Given the description of an element on the screen output the (x, y) to click on. 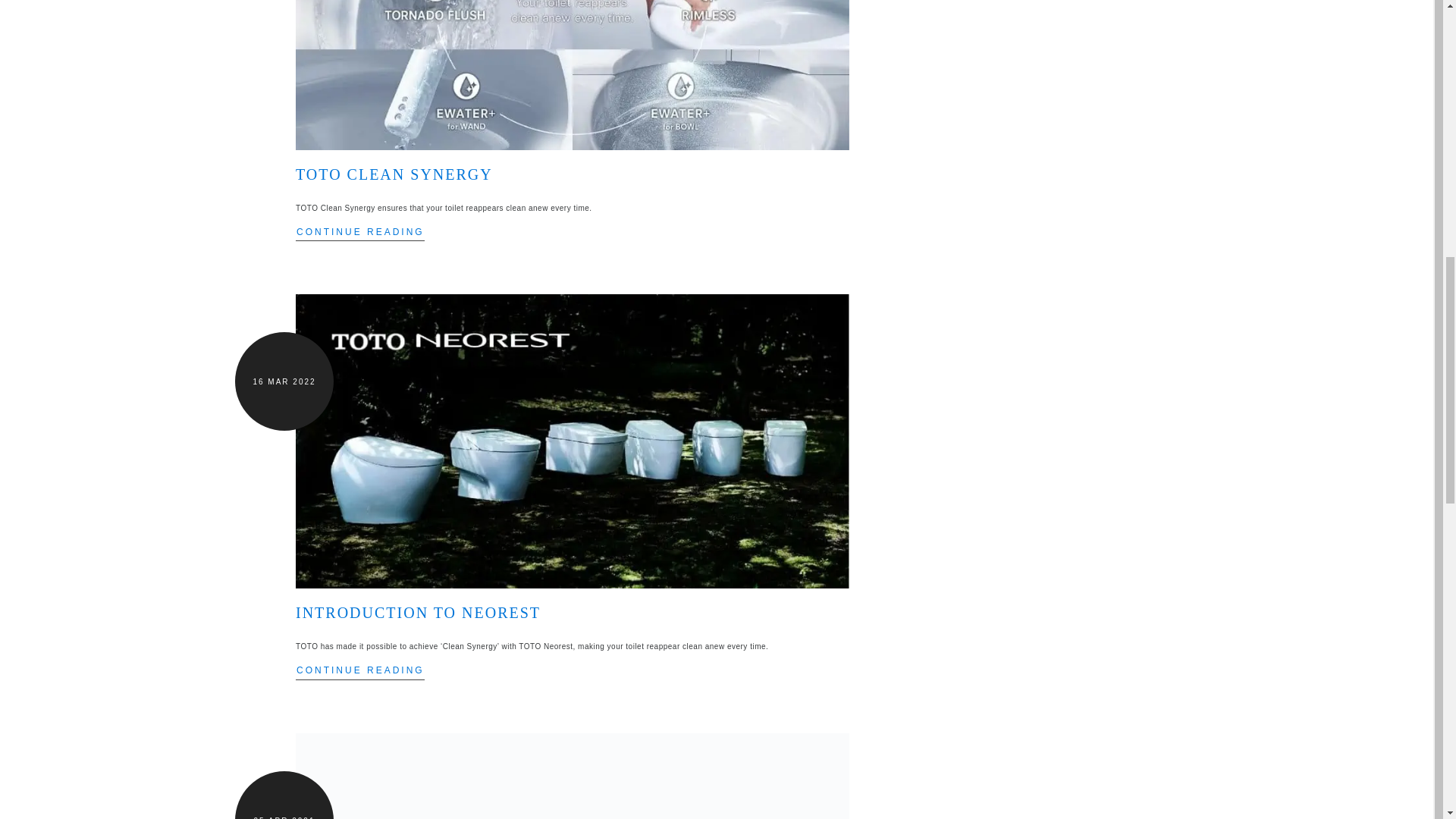
INTRODUCTION TO NEOREST (417, 612)
CONTINUE READING (360, 670)
TOTO CLEAN SYNERGY (394, 174)
CONTINUE READING (360, 231)
